Given the description of an element on the screen output the (x, y) to click on. 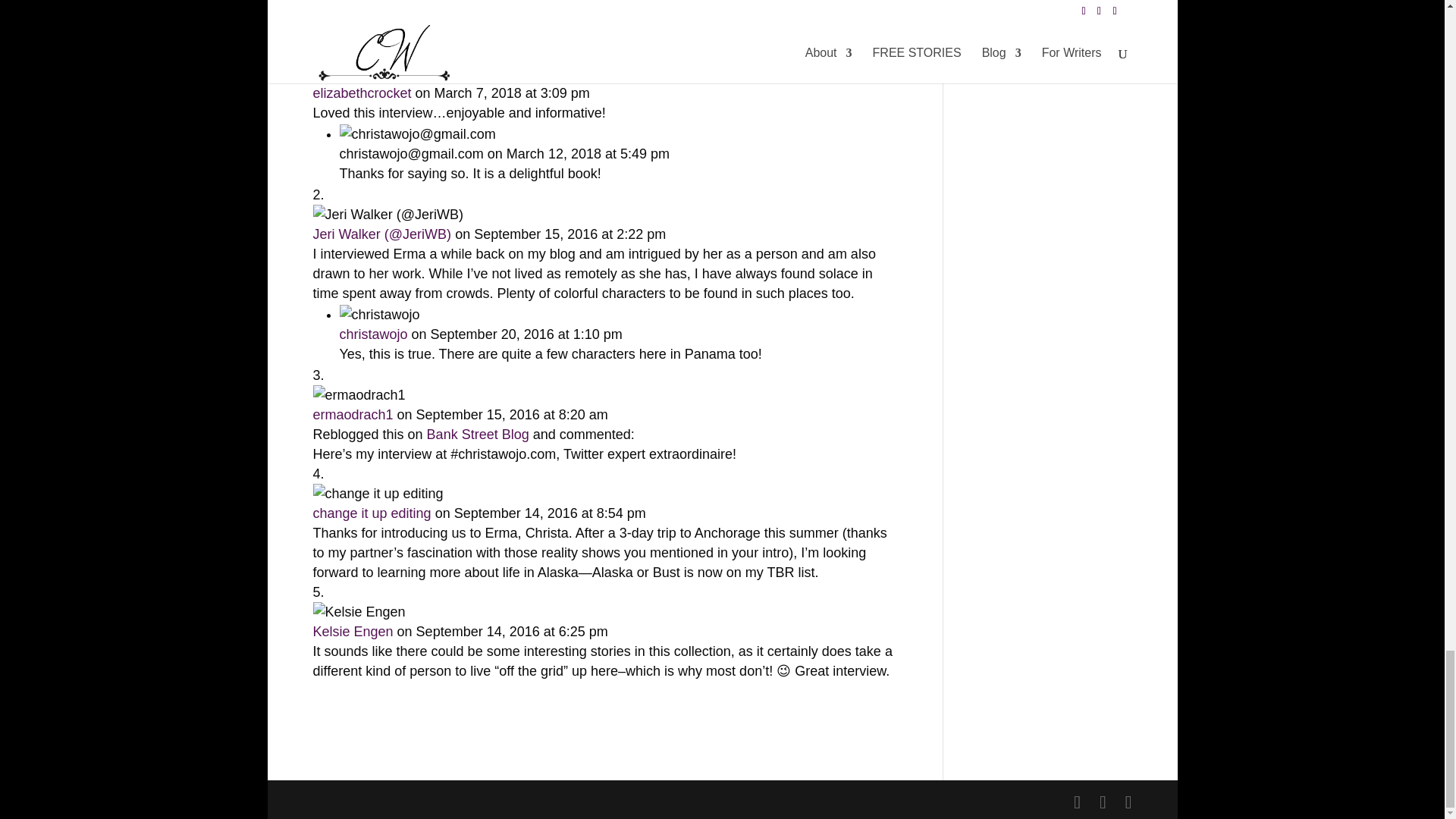
elizabethcrocket (361, 92)
